Given the description of an element on the screen output the (x, y) to click on. 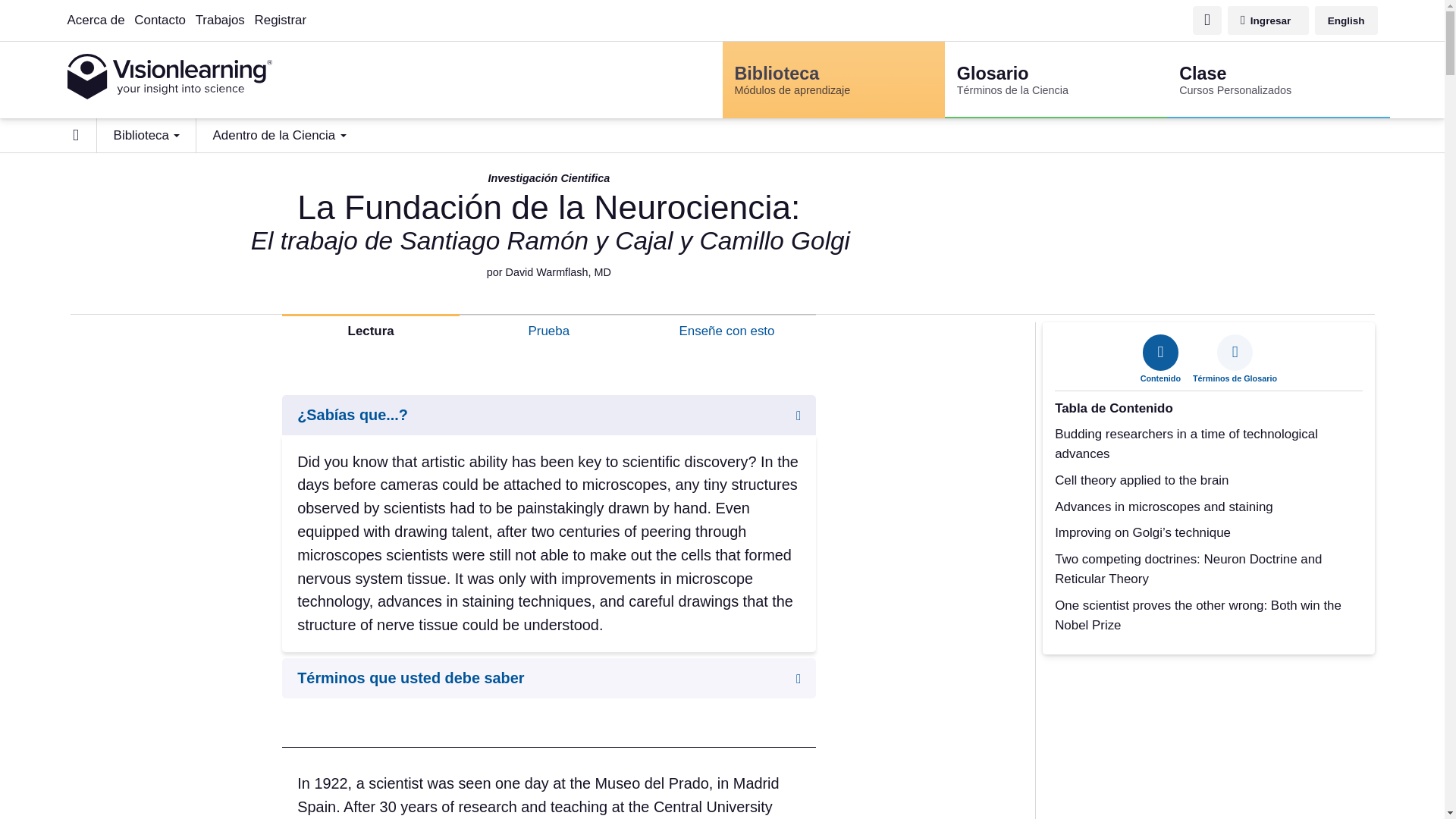
Acerca de (94, 20)
Ingresar (1267, 20)
Contacto (159, 20)
Biblioteca (146, 134)
Trabajos (219, 20)
Jump to main content (738, 9)
English (1278, 79)
Registrar (1345, 20)
